Given the description of an element on the screen output the (x, y) to click on. 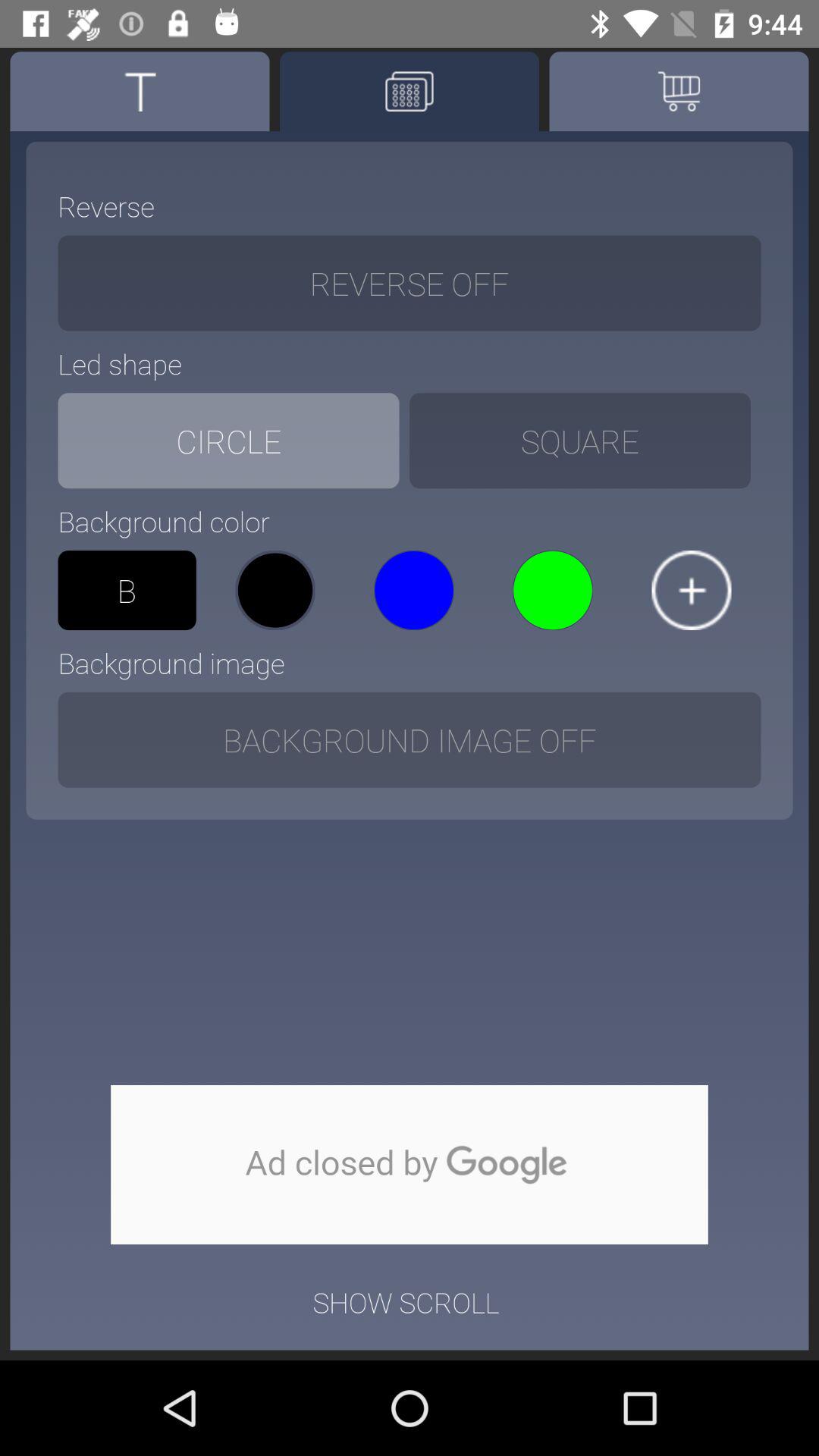
shows advertisement closed by google option (409, 1164)
